Given the description of an element on the screen output the (x, y) to click on. 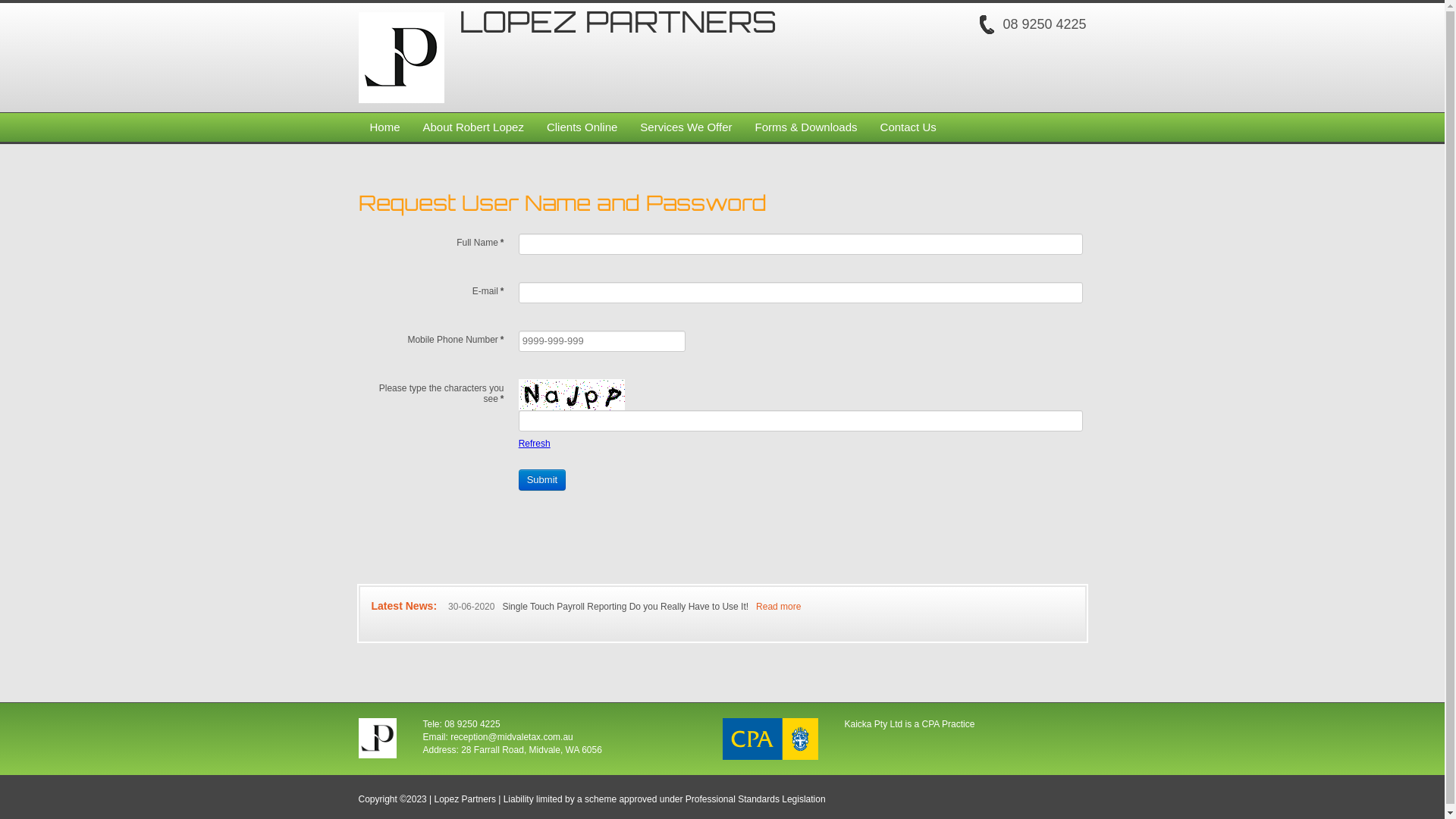
Clients Online Element type: text (581, 126)
Services We Offer Element type: text (685, 126)
Refresh Element type: text (534, 443)
Home Element type: text (384, 126)
Contact Us Element type: text (908, 126)
Submit Element type: text (541, 479)
Forms & Downloads Element type: text (805, 126)
About Robert Lopez Element type: text (473, 126)
Read more Element type: text (778, 606)
